Given the description of an element on the screen output the (x, y) to click on. 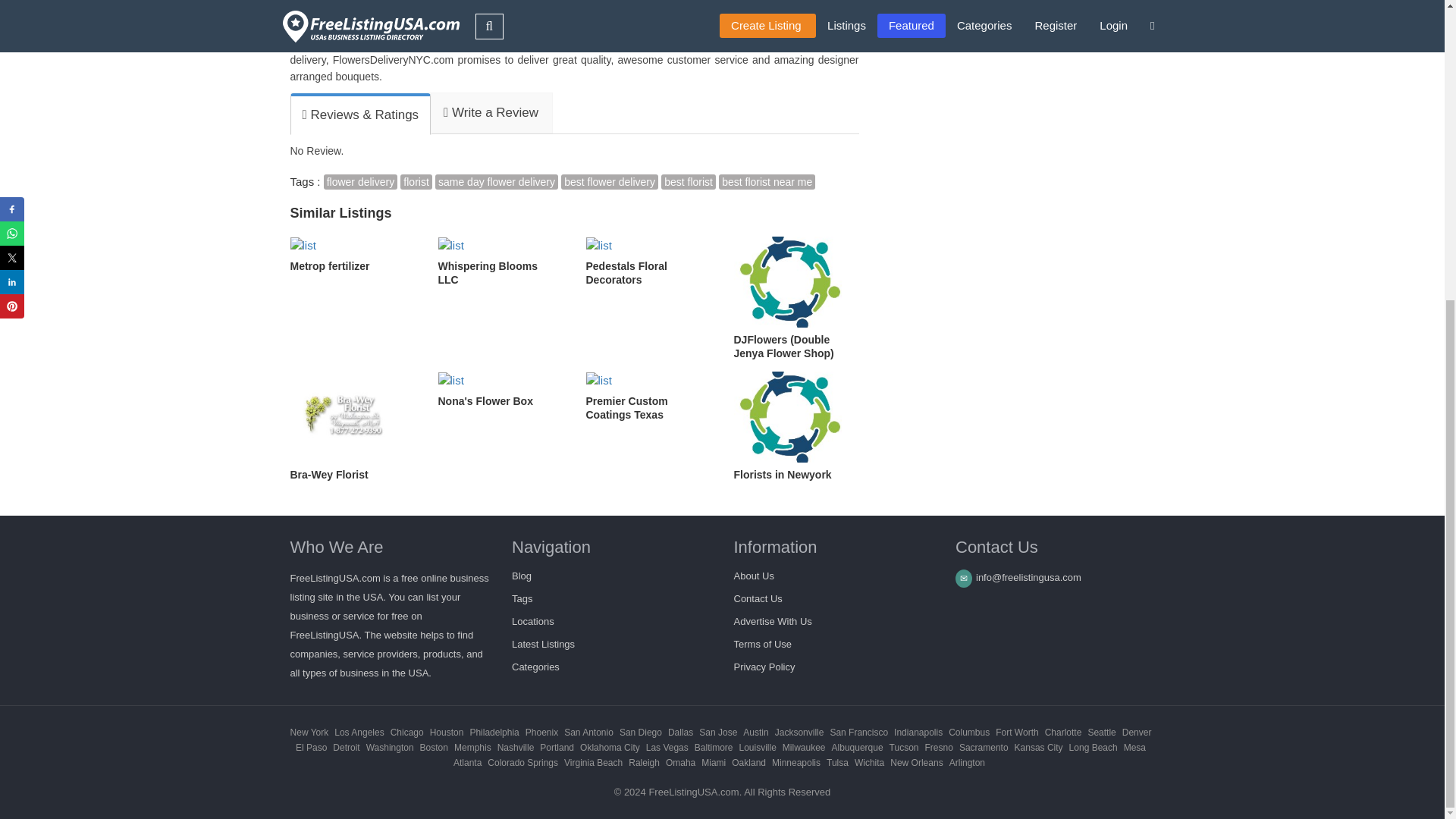
Listing categories (535, 666)
Contact Us (758, 598)
Tags (522, 598)
Metrop fertilizer (351, 254)
florist (415, 181)
best florist near me (767, 181)
best florist (688, 181)
FreeListingUSA Blog (521, 575)
Local business listing in Los Angeles (359, 732)
Local business listing in Chicago (406, 732)
Local business listing in New York (309, 732)
Locations (533, 621)
same day flower delivery (496, 181)
Pedestals Floral Decorators (647, 261)
Whispering Blooms LLC (500, 261)
